Given the description of an element on the screen output the (x, y) to click on. 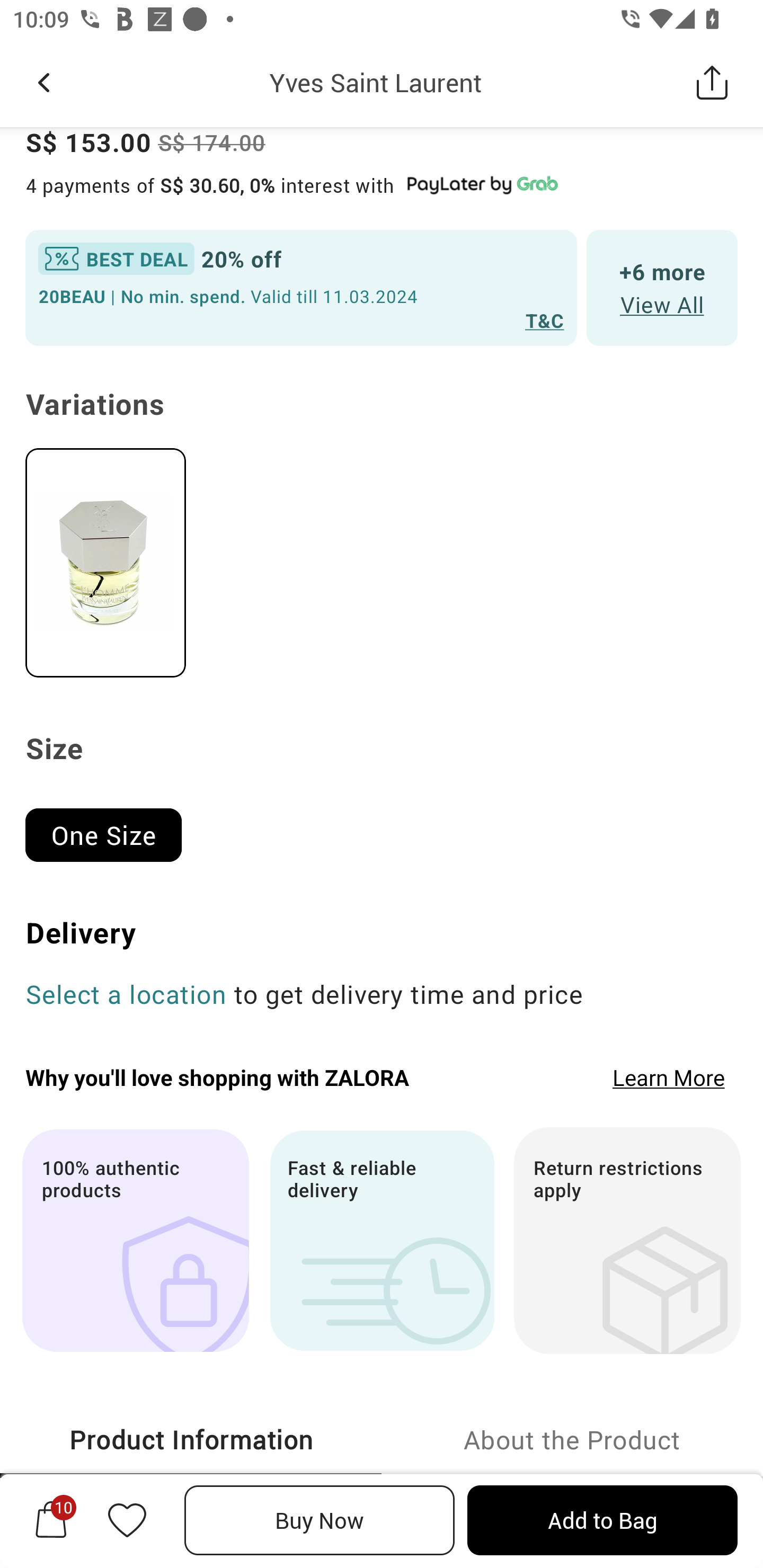
Yves Saint Laurent (375, 82)
Share this Product (711, 82)
+6 more
View All (661, 288)
T&C (544, 319)
One Size (111, 826)
Learn More (668, 1076)
100% authentic products (135, 1240)
Fast & reliable delivery (381, 1240)
Return restrictions apply (627, 1240)
About the Product (572, 1439)
Buy Now (319, 1519)
Add to Bag (601, 1519)
10 (50, 1520)
